Given the description of an element on the screen output the (x, y) to click on. 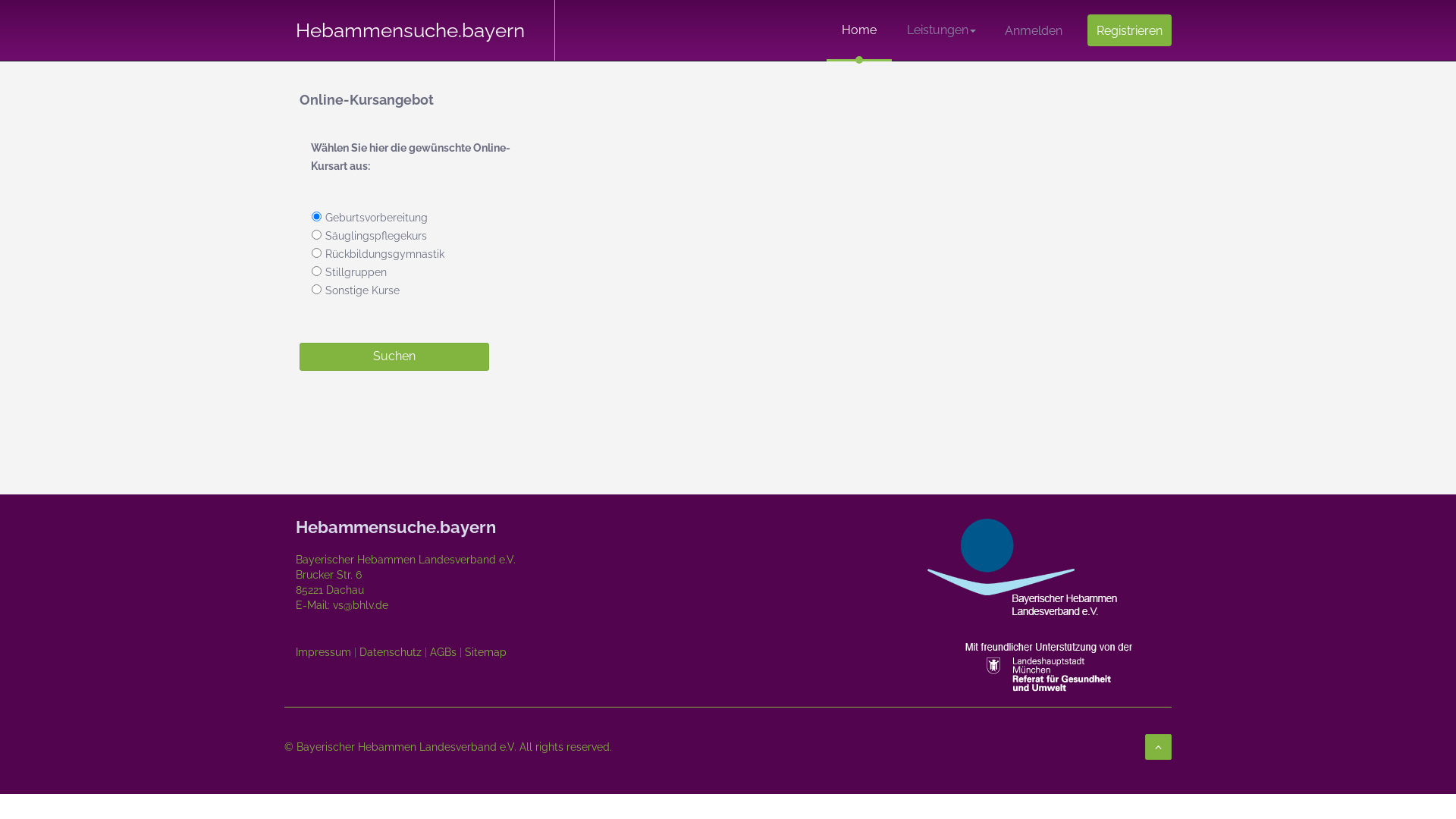
Registrieren Element type: text (1129, 30)
Hebammensuche.bayern Element type: text (419, 18)
vs@bhlv.de Element type: text (358, 605)
Anmelden Element type: text (1033, 30)
AGBs Element type: text (442, 652)
Impressum Element type: text (323, 652)
Home Element type: text (858, 30)
Suchen Element type: text (394, 356)
Leistungen Element type: text (941, 30)
Datenschutz Element type: text (390, 652)
Sitemap Element type: text (485, 652)
